Given the description of an element on the screen output the (x, y) to click on. 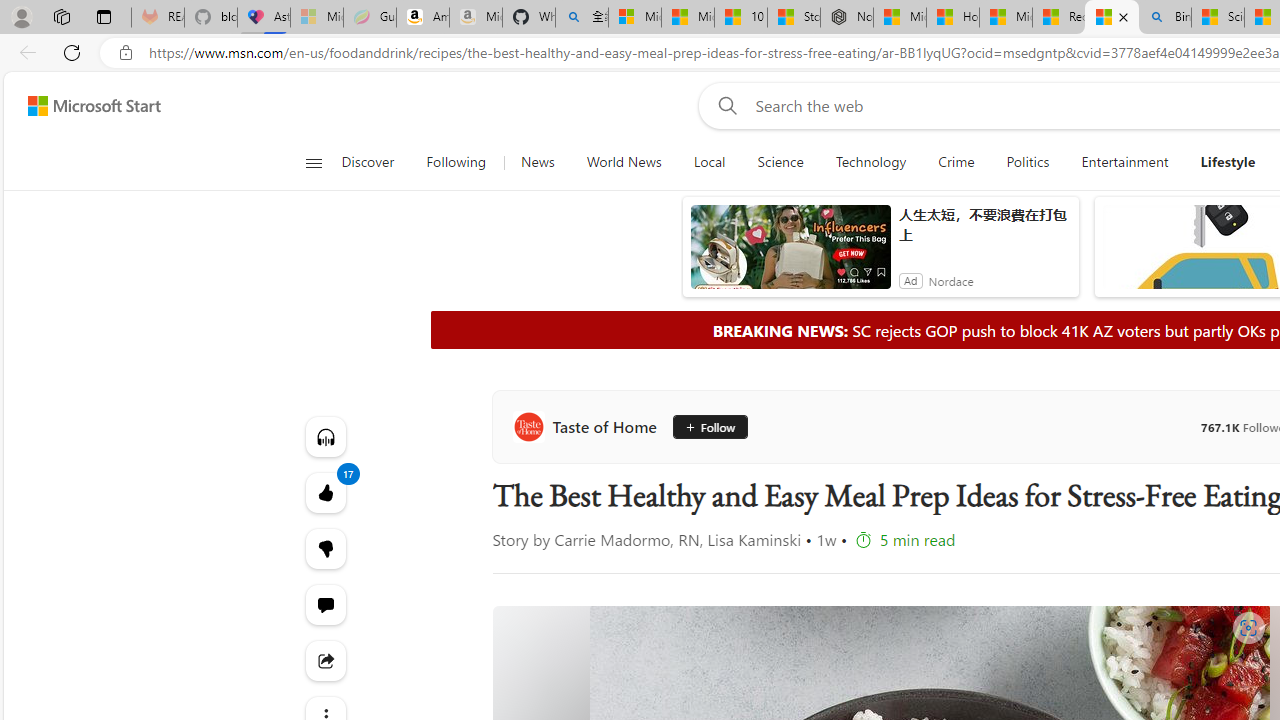
Listen to this article (324, 436)
Crime (955, 162)
Entertainment (1124, 162)
Lifestyle (1227, 162)
Stocks - MSN (794, 17)
